Given the description of an element on the screen output the (x, y) to click on. 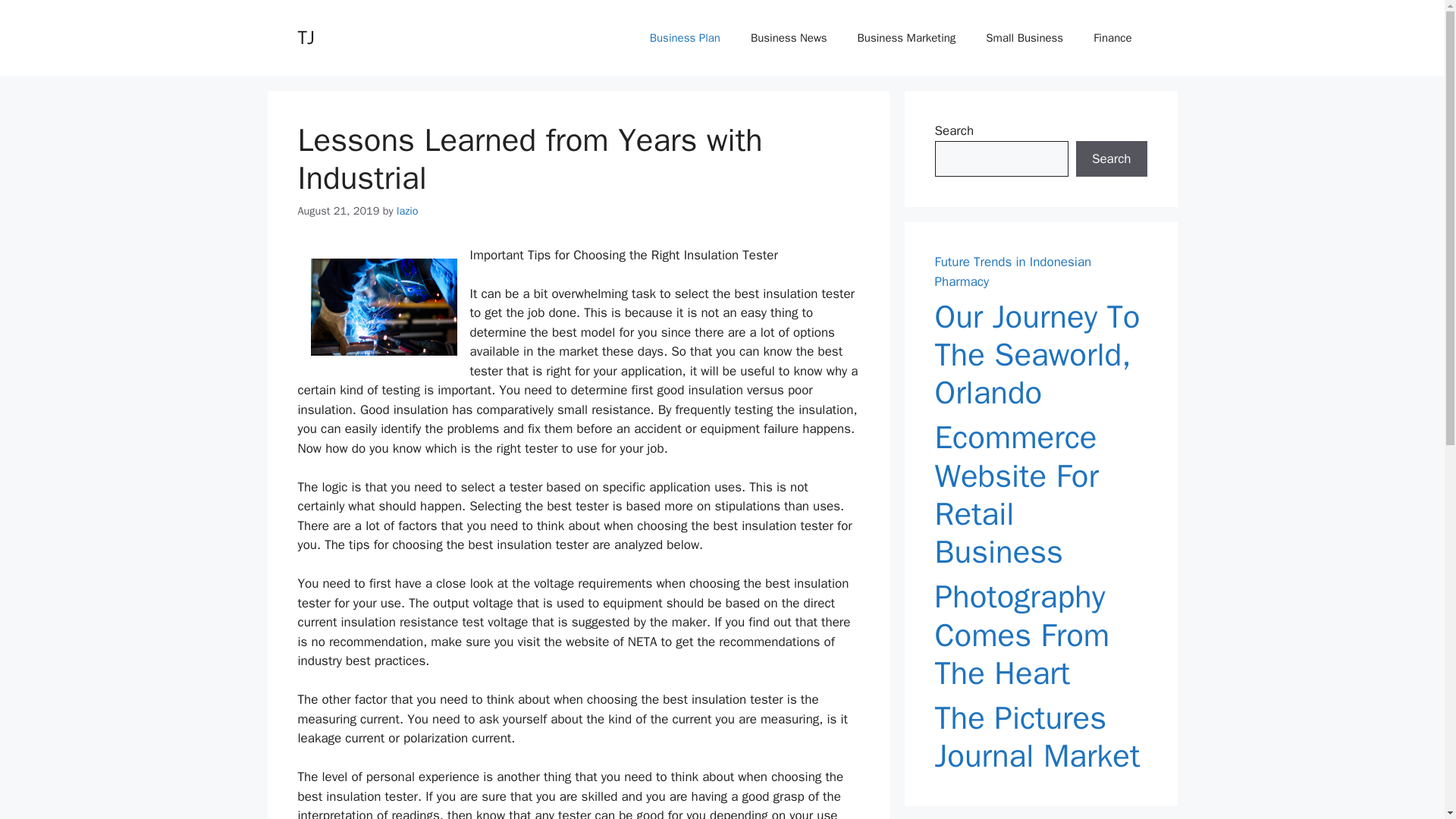
Search (1111, 158)
Photography Comes From The Heart (1040, 635)
Future Trends in Indonesian Pharmacy (1012, 271)
Small Business (1024, 37)
Business Plan (684, 37)
Business Marketing (907, 37)
Ecommerce Website For Retail Business (1040, 494)
Our Journey To The Seaworld, Orlando (1040, 354)
The Pictures Journal Market (1040, 737)
lazio (407, 210)
